Given the description of an element on the screen output the (x, y) to click on. 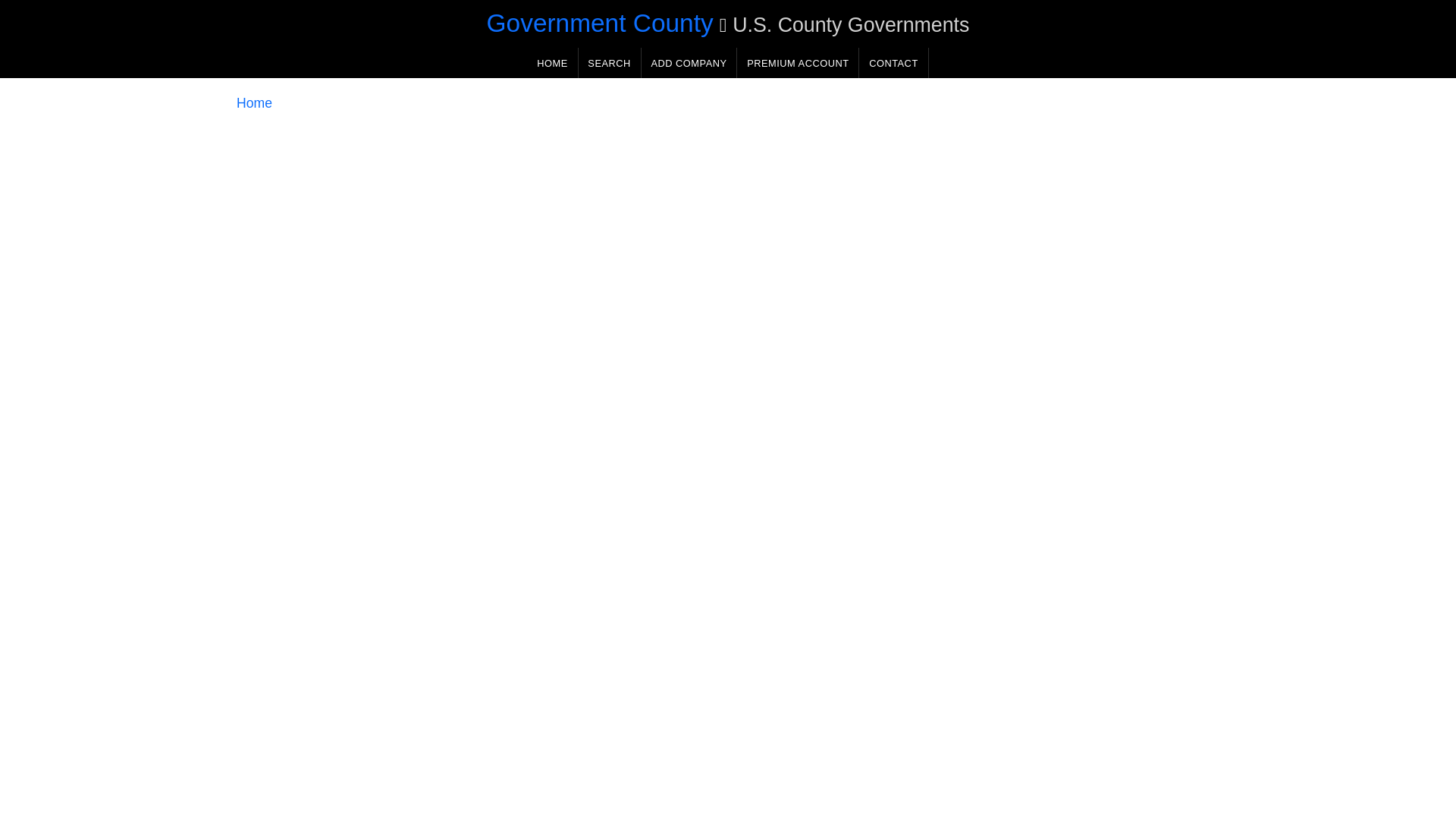
CONTACT (893, 62)
Add a new company (689, 62)
HOME (551, 62)
Premium account (797, 62)
SEARCH (609, 62)
ADD COMPANY (689, 62)
Home (253, 102)
Search in this webseite. (609, 62)
PREMIUM ACCOUNT (797, 62)
